Given the description of an element on the screen output the (x, y) to click on. 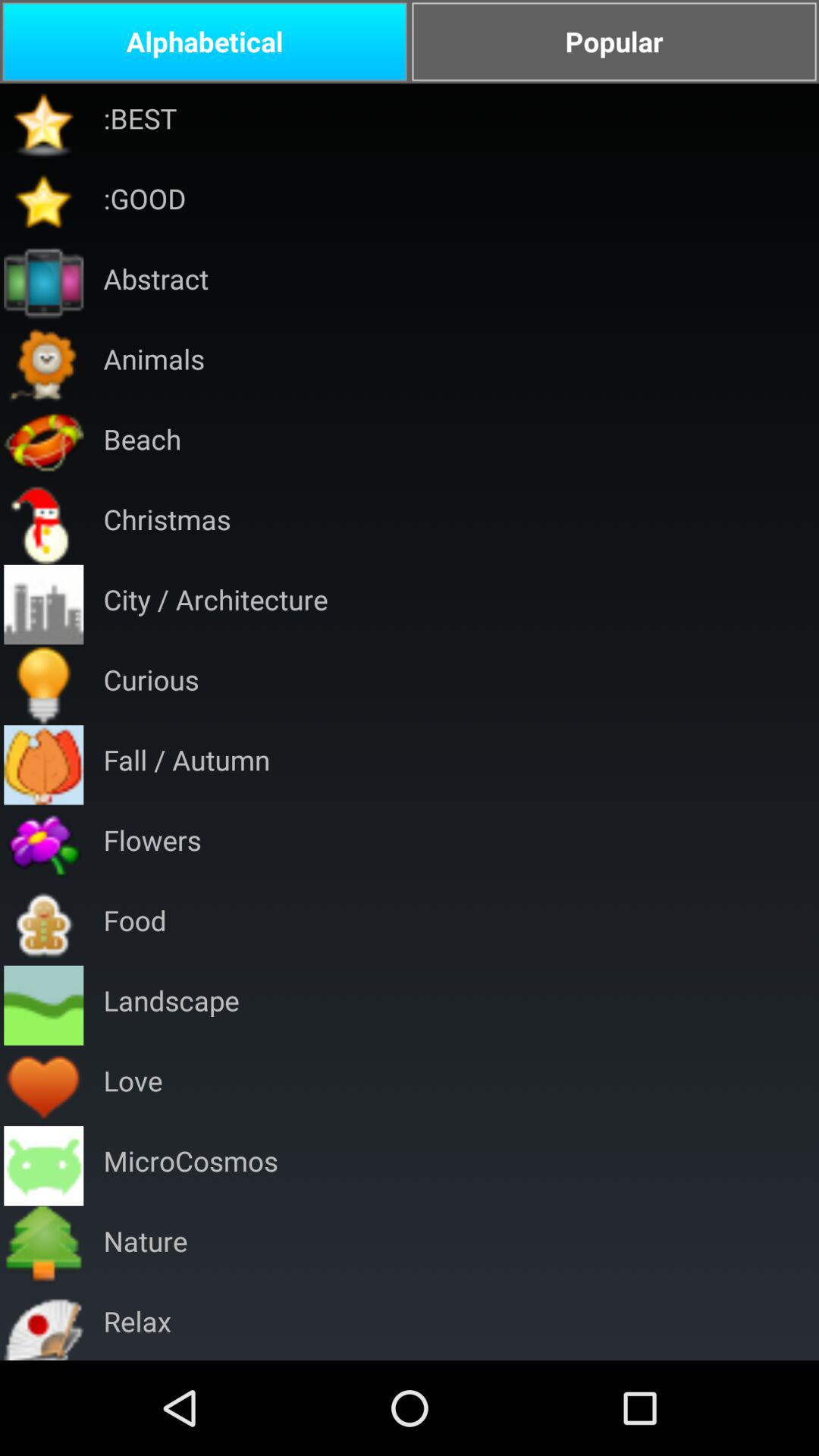
press the item to the right of the alphabetical (614, 41)
